Given the description of an element on the screen output the (x, y) to click on. 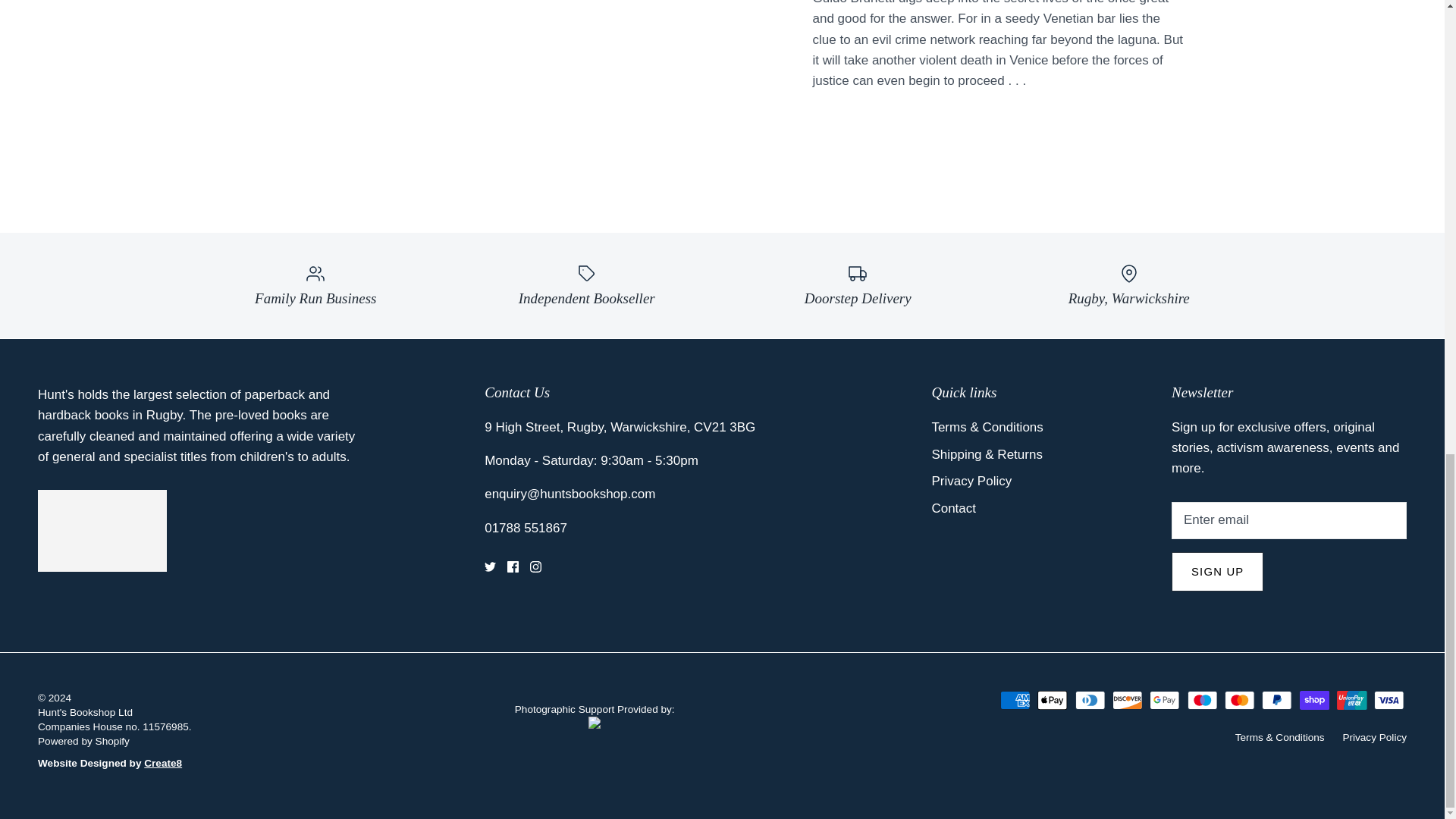
Instagram (535, 566)
Diners Club (1090, 700)
Twitter (490, 566)
American Express (1015, 700)
Label (586, 273)
Apple Pay (1051, 700)
Facebook (512, 566)
